Given the description of an element on the screen output the (x, y) to click on. 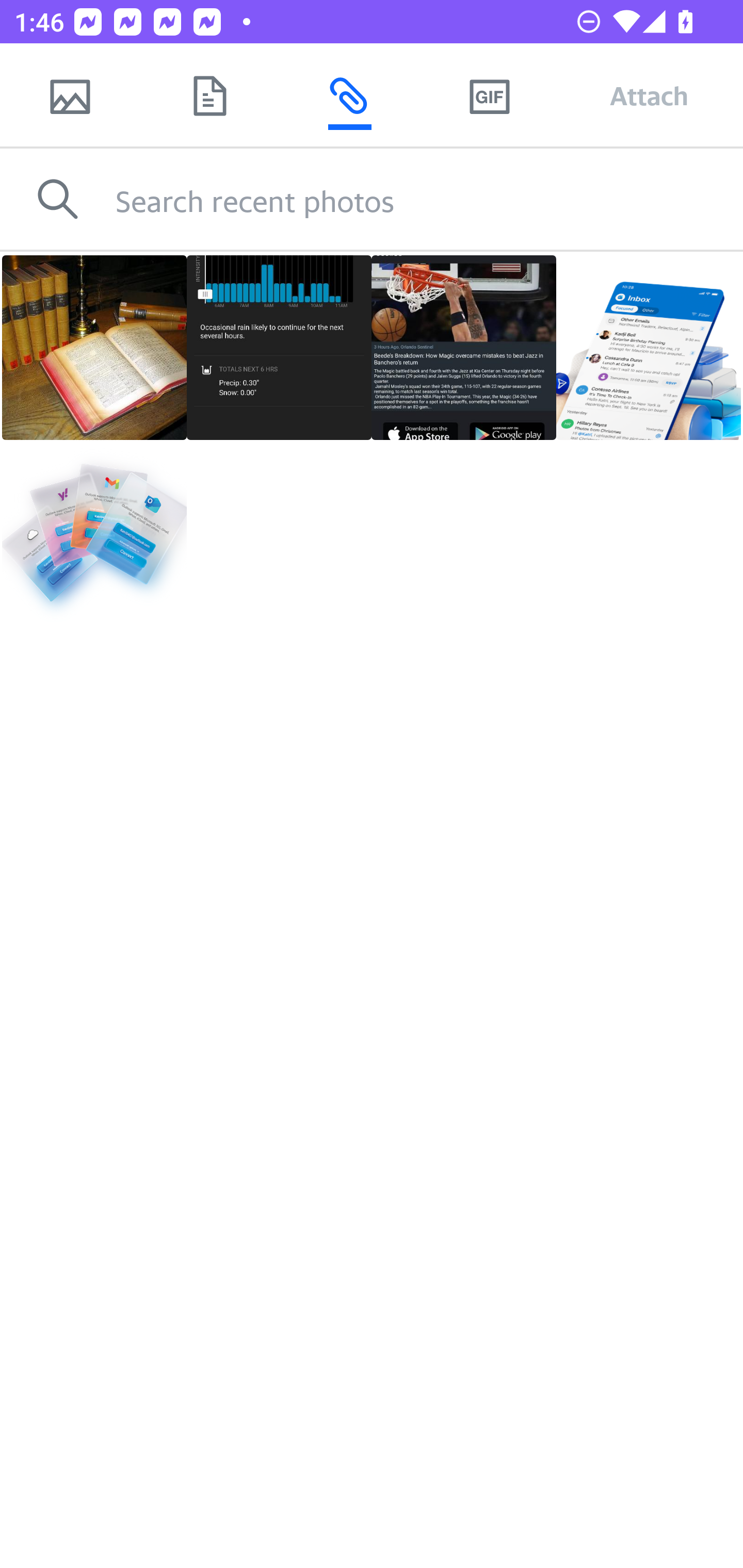
Camera photos (69, 95)
Device files (209, 95)
Recent attachments from mail (349, 95)
GIFs (489, 95)
Attach (649, 95)
Search recent photos (429, 198)
1280px-Latin_dictionary.jpg (94, 347)
image_20240305_1027737217200605633124.jpg (278, 347)
1758438839.jpg (463, 347)
wm-hero.png (648, 347)
wm-hero-mo.png (94, 532)
